Given the description of an element on the screen output the (x, y) to click on. 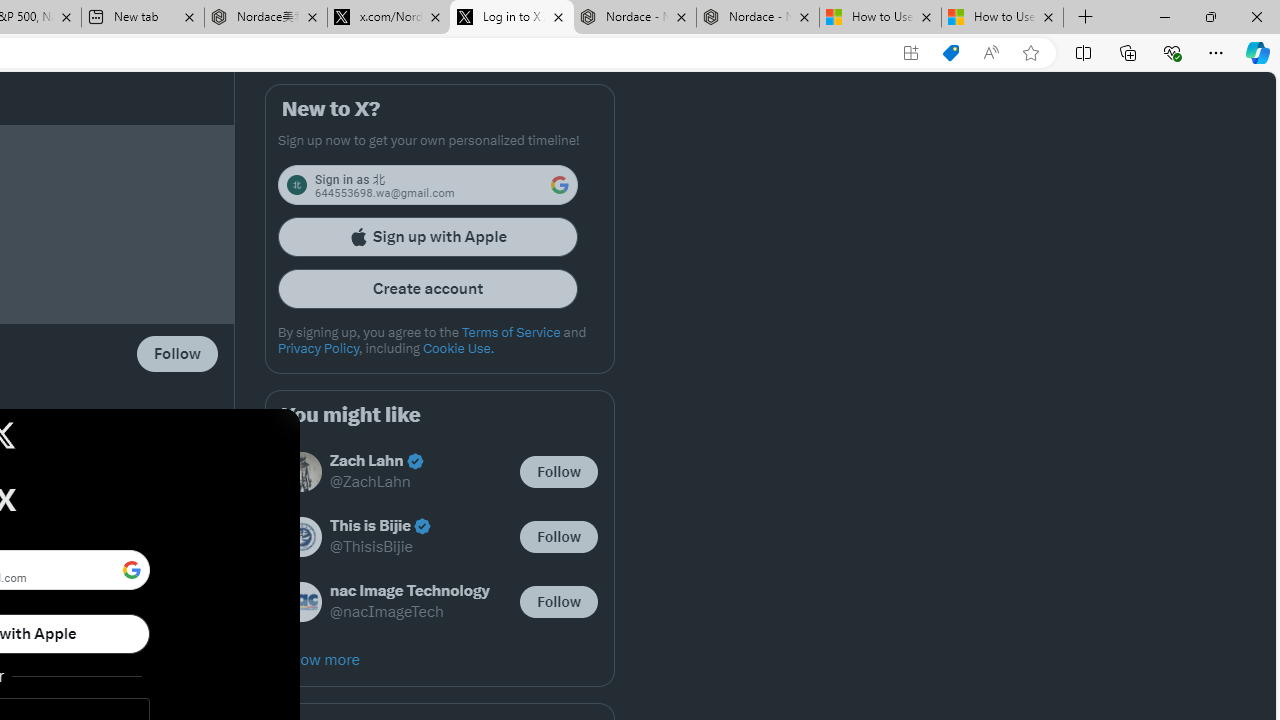
New Tab (1085, 17)
Browser essentials (1171, 52)
Close (1256, 16)
Restore (1210, 16)
